Given the description of an element on the screen output the (x, y) to click on. 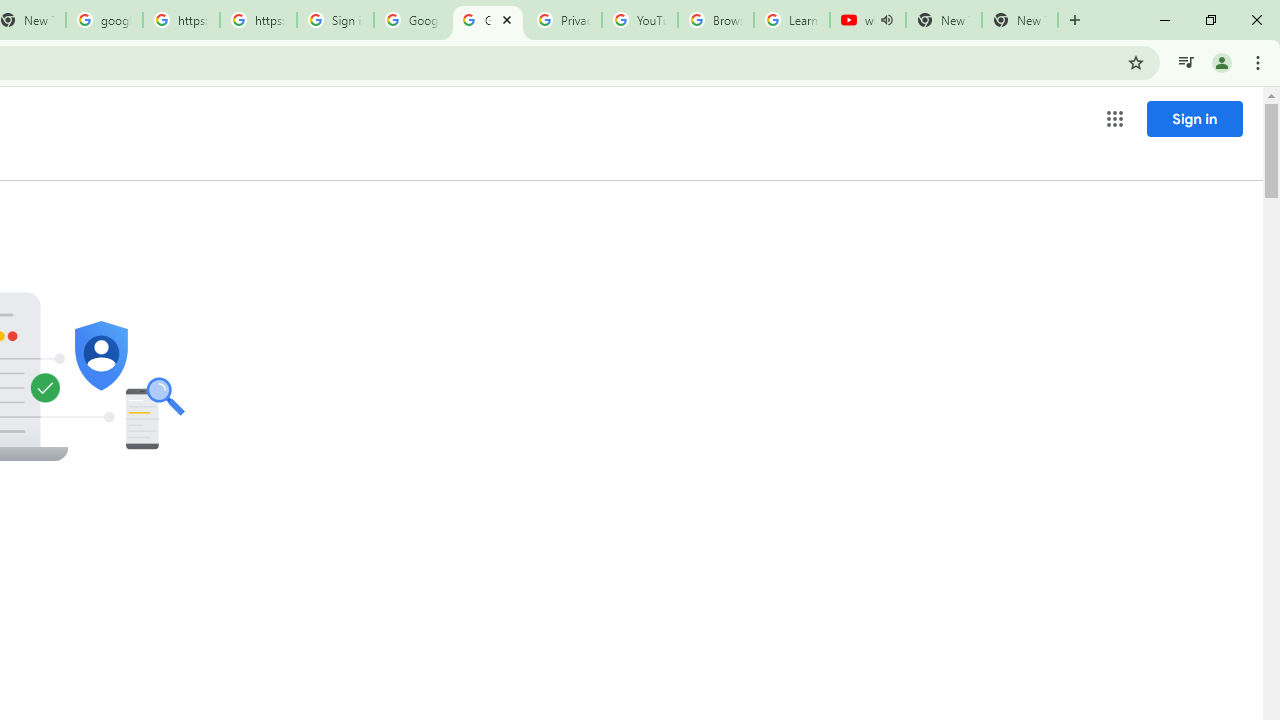
https://scholar.google.com/ (258, 20)
Browse Chrome as a guest - Computer - Google Chrome Help (715, 20)
Sign in - Google Accounts (335, 20)
